Given the description of an element on the screen output the (x, y) to click on. 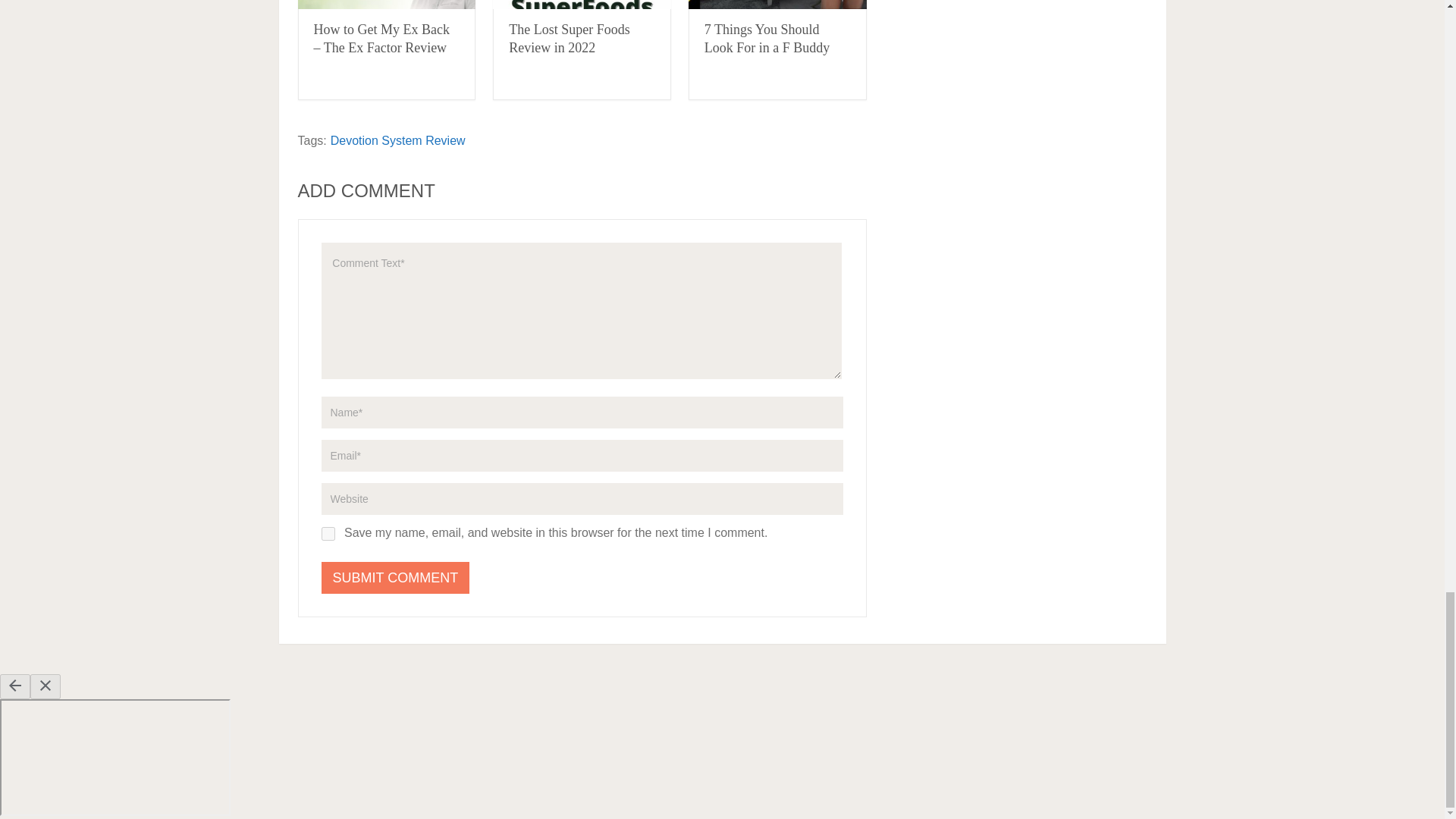
yes (327, 533)
Submit Comment (395, 577)
The Lost Super Foods Review in 2022 (569, 38)
